Given the description of an element on the screen output the (x, y) to click on. 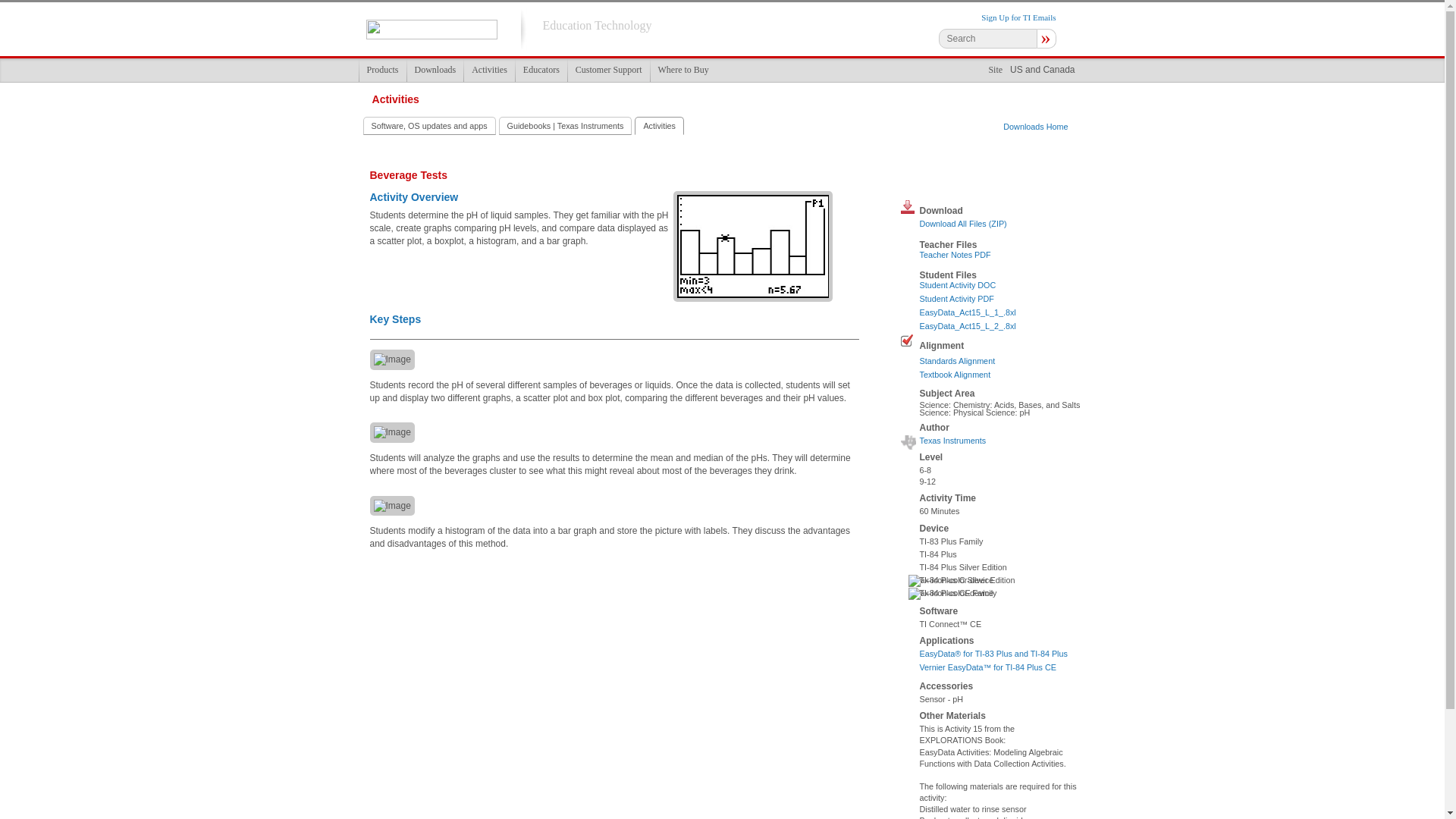
Twitter (969, 180)
Sign Up for TI Emails (1018, 17)
Recommend Activity (914, 180)
Educators (541, 69)
Downloads (435, 69)
Activities (489, 69)
Products (382, 69)
Facebook (941, 180)
